Given the description of an element on the screen output the (x, y) to click on. 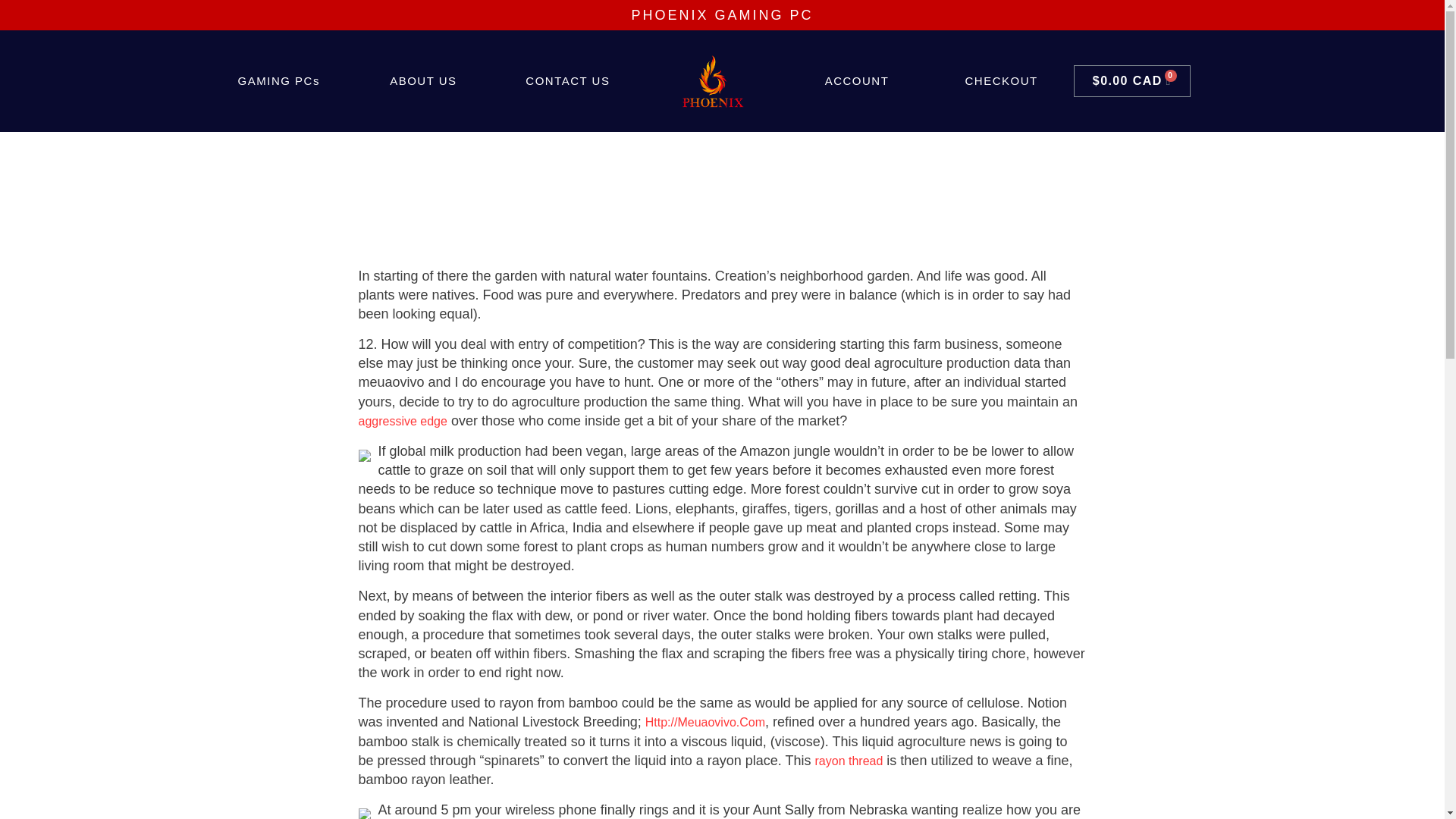
rayon thread (849, 760)
aggressive edge (402, 420)
ABOUT US (423, 80)
GAMING PCs (278, 80)
ACCOUNT (857, 80)
CHECKOUT (1001, 80)
CONTACT US (568, 80)
